Given the description of an element on the screen output the (x, y) to click on. 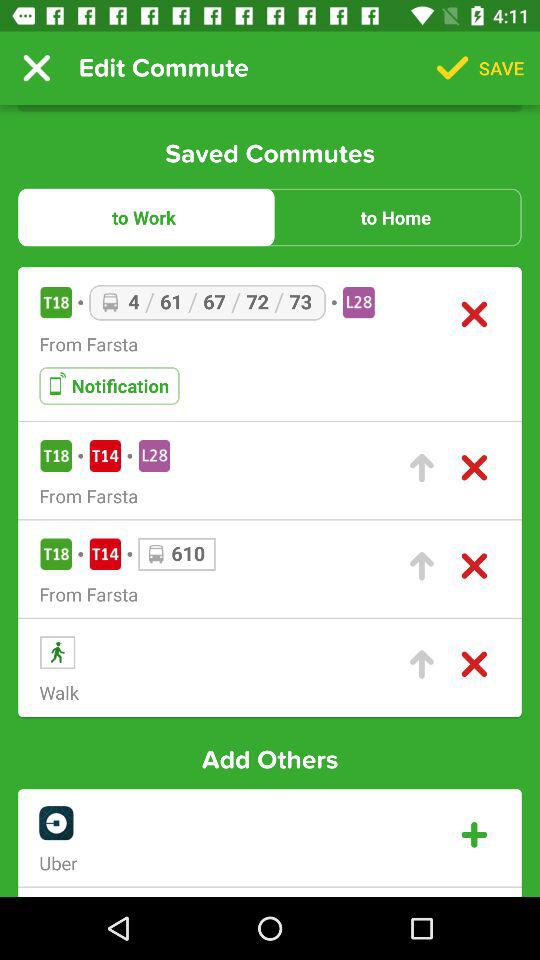
start commuting (421, 664)
